Given the description of an element on the screen output the (x, y) to click on. 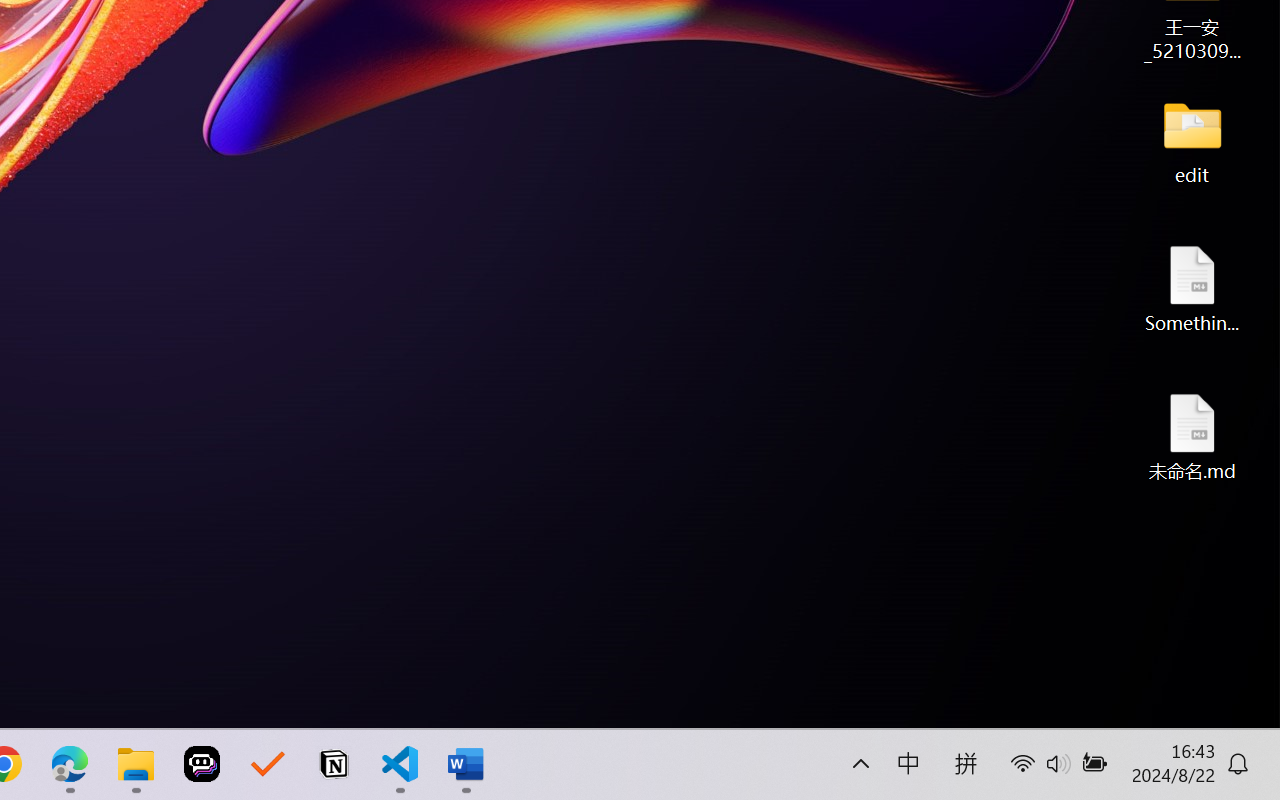
edit (1192, 140)
